Given the description of an element on the screen output the (x, y) to click on. 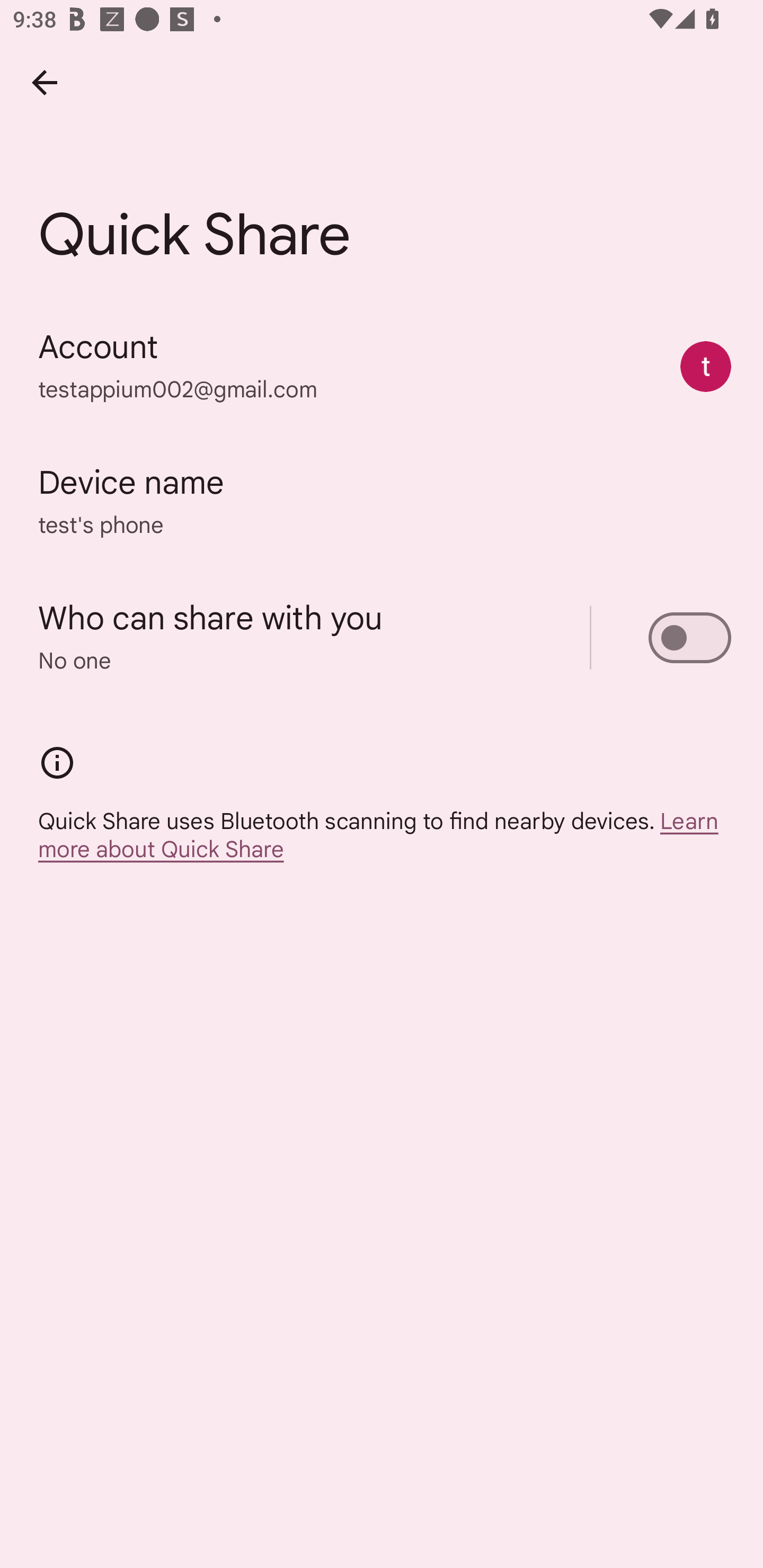
Back (44, 81)
Account testappium002@gmail.com (381, 366)
Device name test's phone (381, 502)
Who can share with you No one (381, 637)
